Given the description of an element on the screen output the (x, y) to click on. 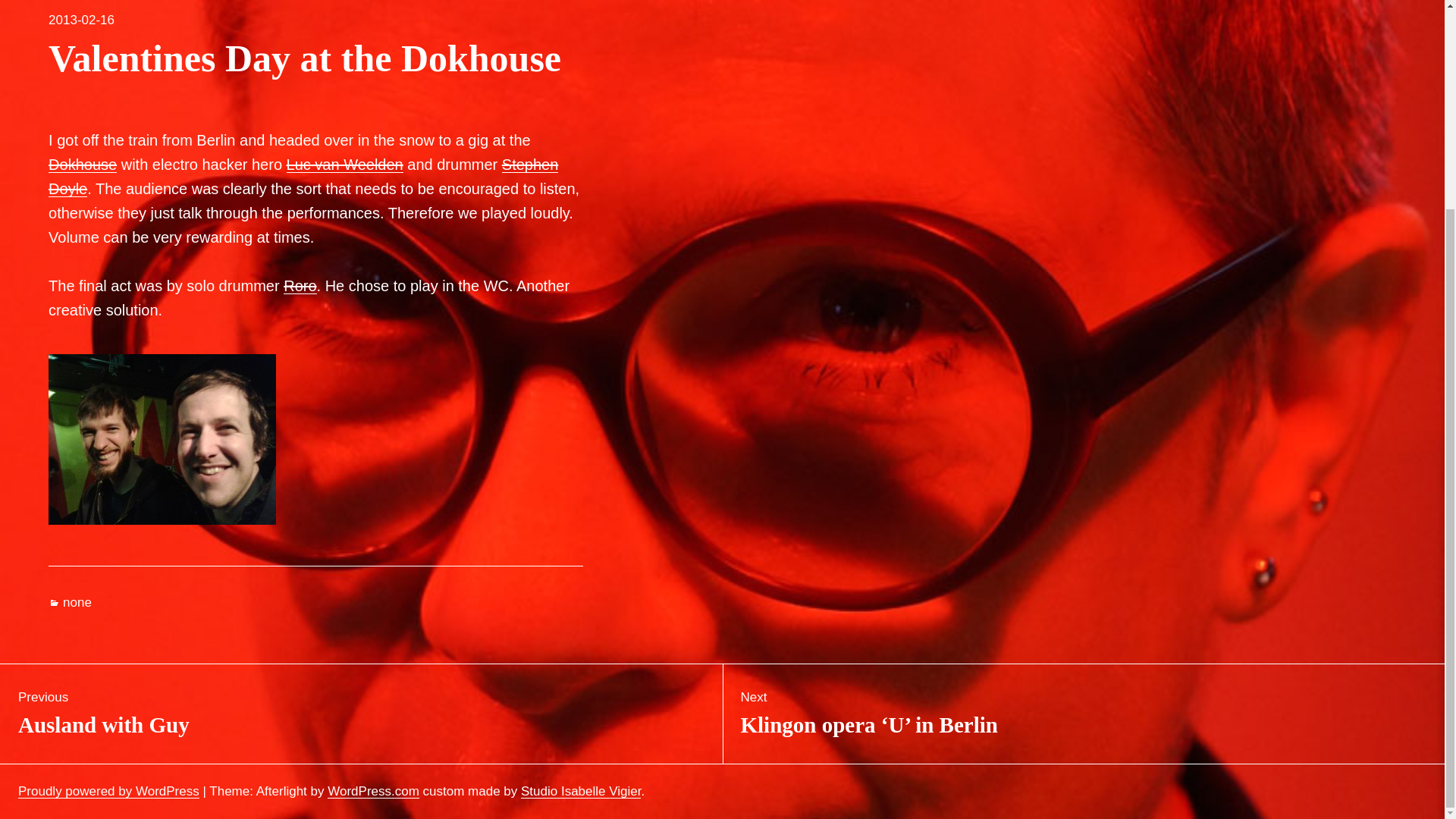
Roro (299, 285)
none (76, 602)
Luc van Weelden (344, 164)
Dokhouse (82, 164)
Proudly powered by WordPress (108, 790)
Studio Isabelle Vigier (361, 713)
2013-02-16 (580, 790)
WordPress.com (81, 20)
Stephen Doyle (373, 790)
